Given the description of an element on the screen output the (x, y) to click on. 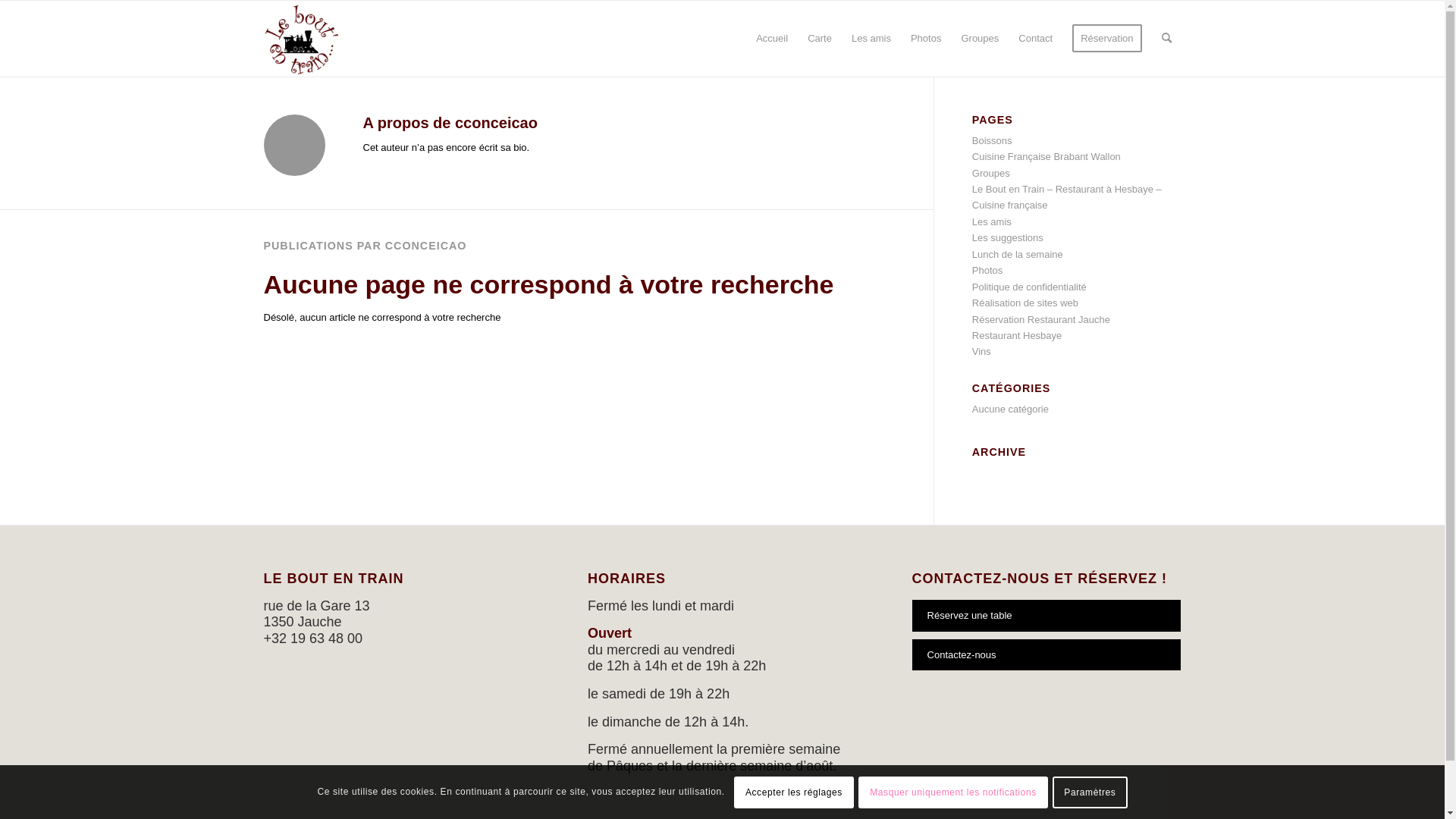
Restaurant Hesbaye Element type: text (1017, 335)
Boissons Element type: text (992, 140)
Photos Element type: text (925, 38)
Les amis Element type: text (991, 221)
Groupes Element type: text (979, 38)
Masquer uniquement les notifications Element type: text (953, 791)
logo-bout-en-train Element type: hover (301, 38)
Vins Element type: text (981, 351)
Les suggestions Element type: text (1007, 237)
Contactez-nous Element type: text (1046, 654)
Contact Element type: text (1035, 38)
Carte Element type: text (819, 38)
Groupes Element type: text (991, 172)
Les amis Element type: text (870, 38)
Accueil Element type: text (771, 38)
Photos Element type: text (987, 270)
Lunch de la semaine Element type: text (1017, 254)
